Given the description of an element on the screen output the (x, y) to click on. 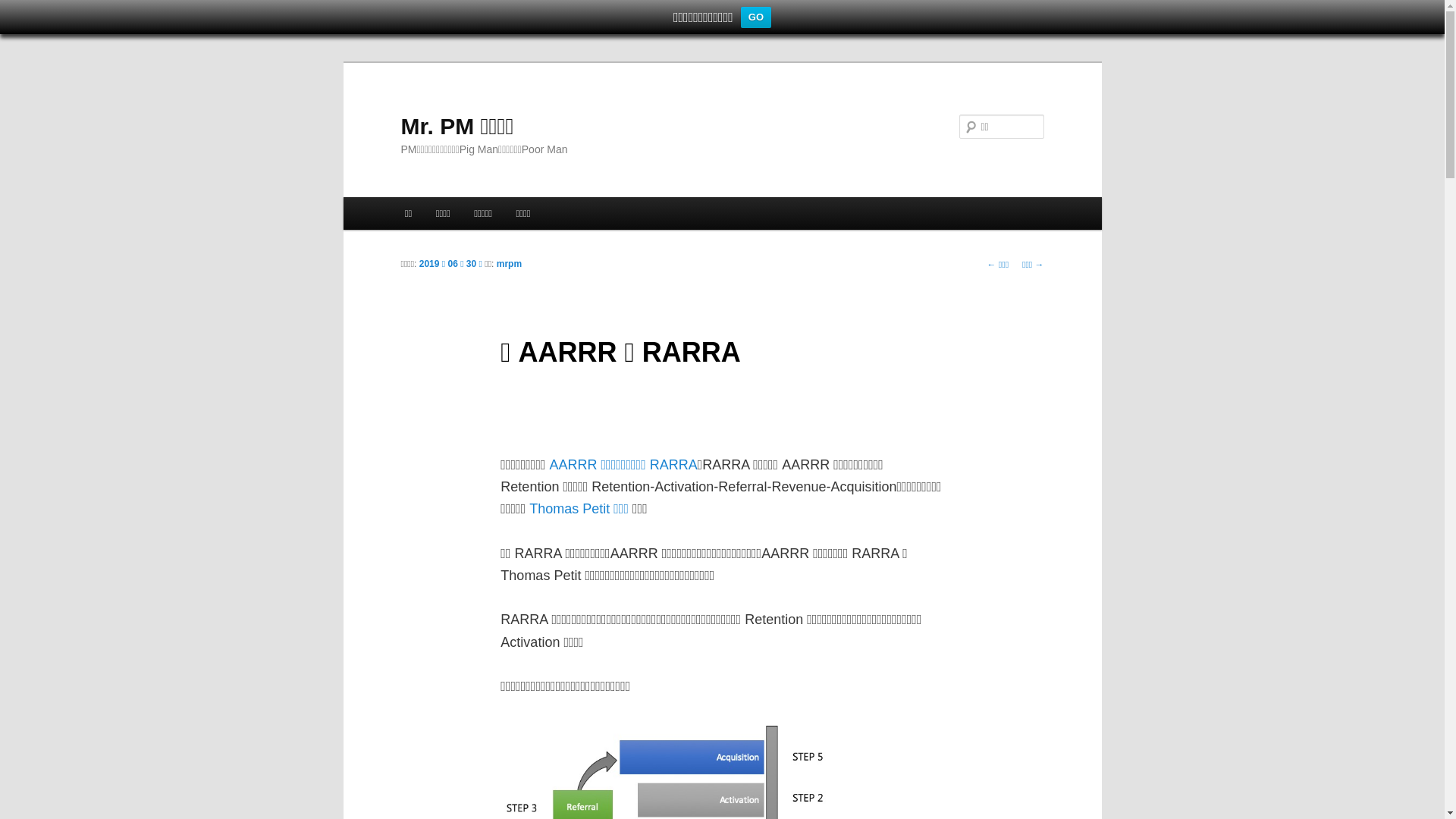
GO Element type: text (755, 16)
mrpm Element type: text (508, 263)
